Given the description of an element on the screen output the (x, y) to click on. 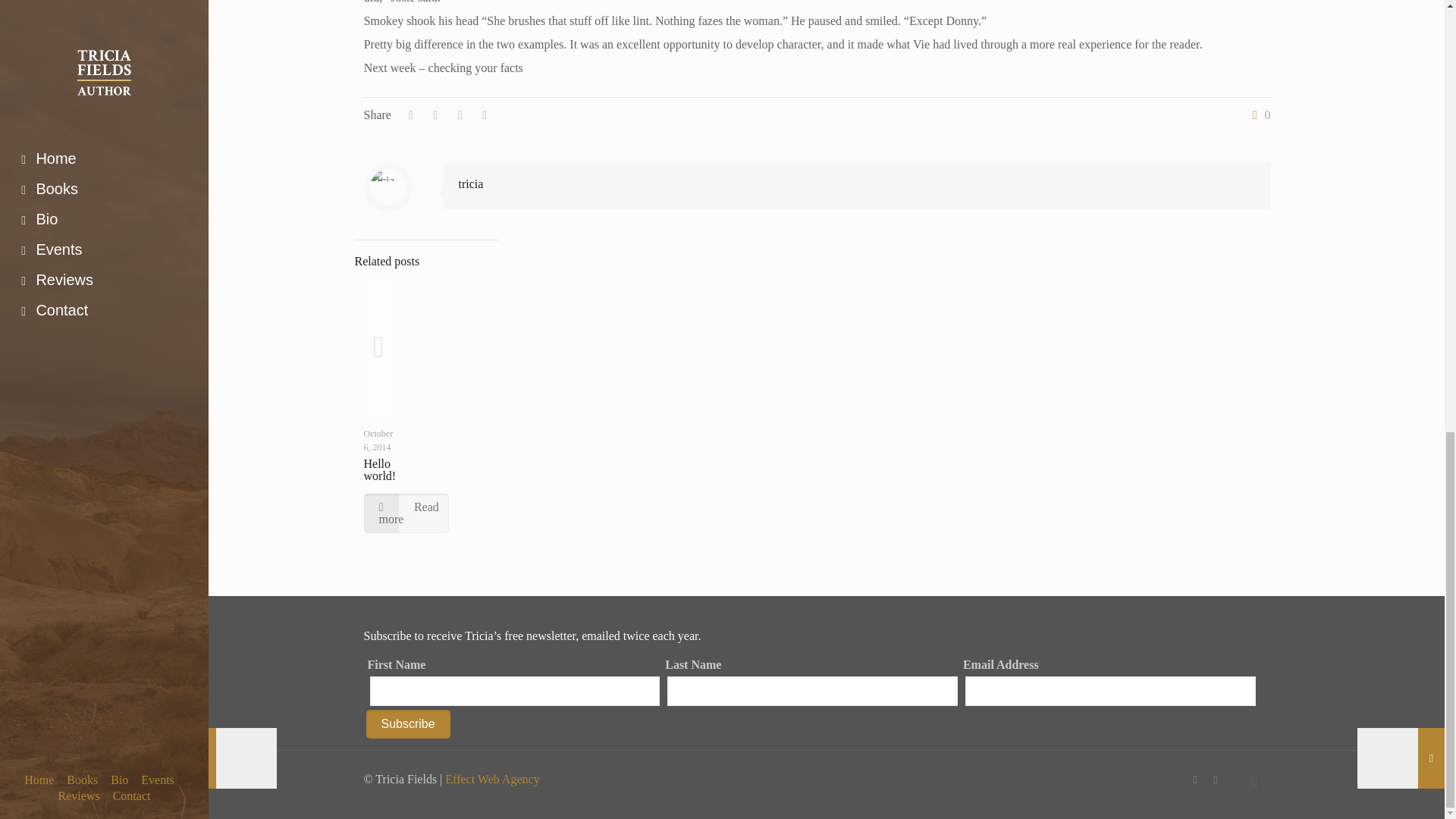
Facebook (1196, 779)
Subscribe (407, 724)
Twitter (1215, 779)
